Given the description of an element on the screen output the (x, y) to click on. 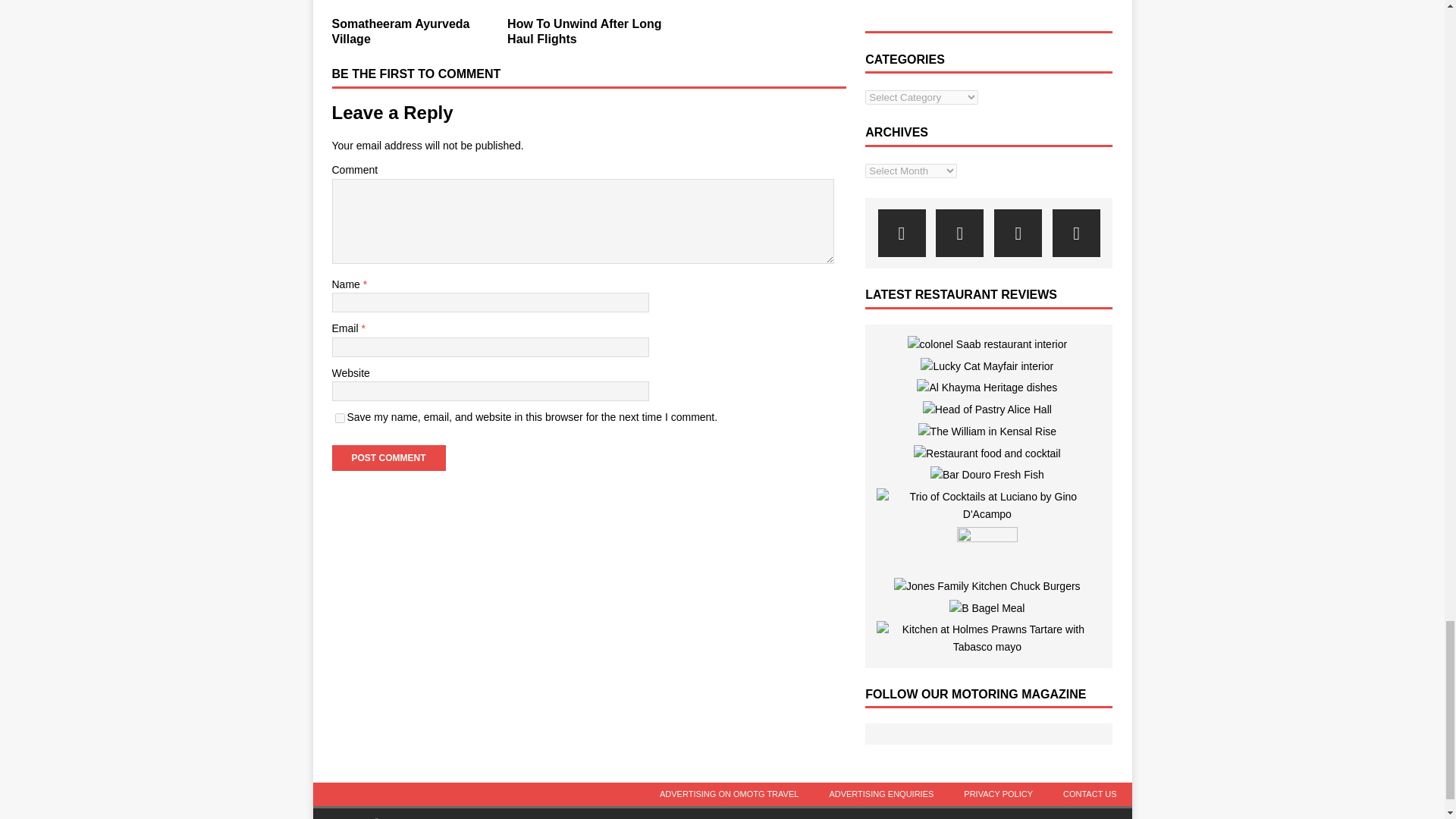
yes (339, 418)
Post Comment (388, 457)
Somatheeram Ayurveda Village (400, 31)
